Given the description of an element on the screen output the (x, y) to click on. 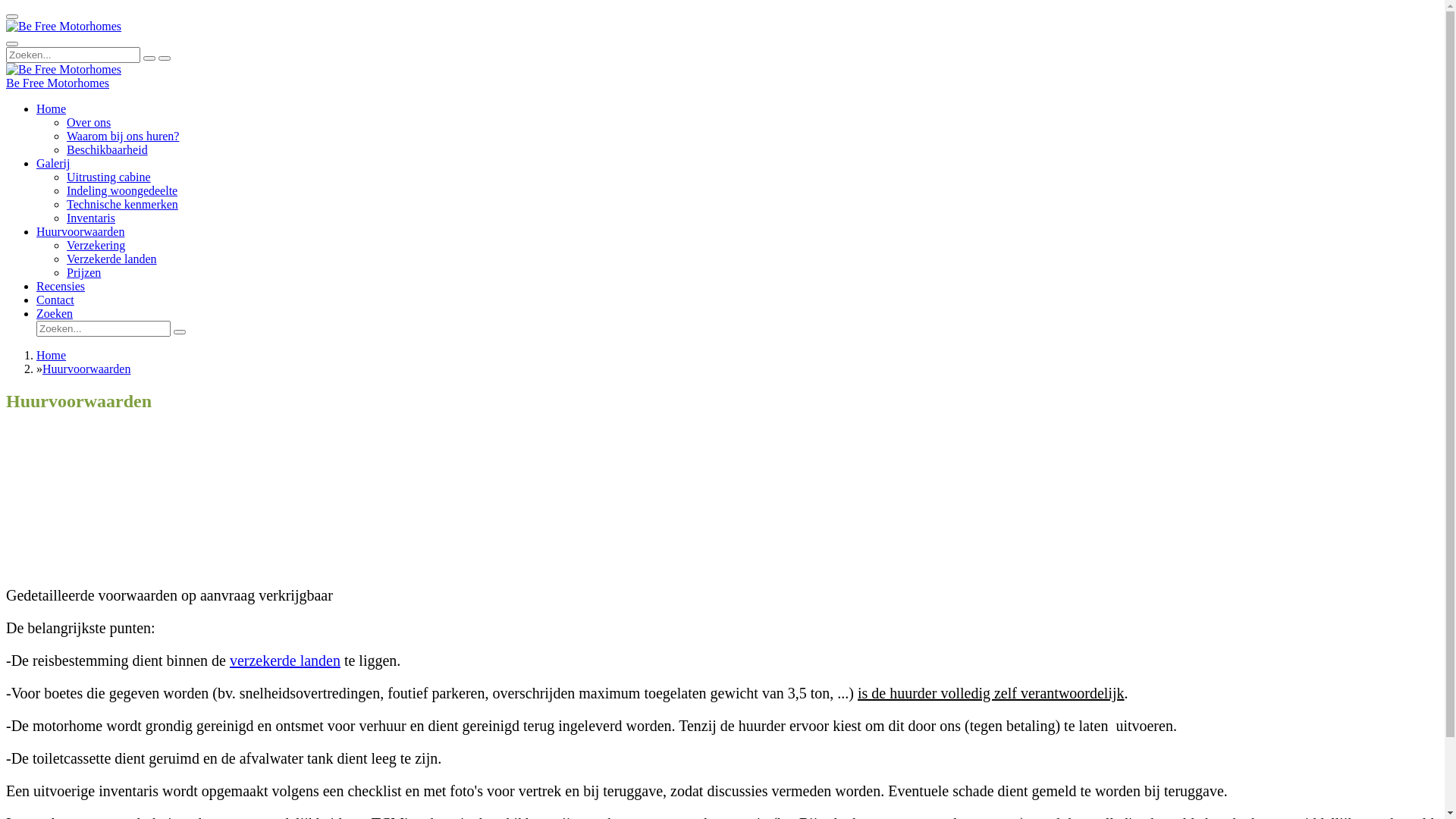
Waarom bij ons huren? Element type: text (122, 135)
Uitrusting cabine Element type: text (108, 176)
Recensies Element type: text (60, 285)
Contact Element type: text (55, 299)
Huurvoorwaarden Element type: text (86, 368)
Be Free Motorhomes Element type: hover (63, 26)
Home Element type: text (50, 108)
Prijzen Element type: text (83, 272)
Zoeken Element type: text (54, 313)
Technische kenmerken Element type: text (122, 203)
Over ons Element type: text (88, 122)
Verzekering Element type: text (95, 244)
Inventaris Element type: text (90, 217)
verzekerde landen Element type: text (284, 660)
Huurvoorwaarden Element type: text (80, 231)
Home Element type: text (50, 354)
Be Free Motorhomes Element type: hover (63, 69)
Galerij Element type: text (52, 162)
Verzekerde landen Element type: text (111, 258)
Beschikbaarheid Element type: text (106, 149)
Be Free Motorhomes Element type: text (57, 82)
Indeling woongedeelte Element type: text (121, 190)
